Given the description of an element on the screen output the (x, y) to click on. 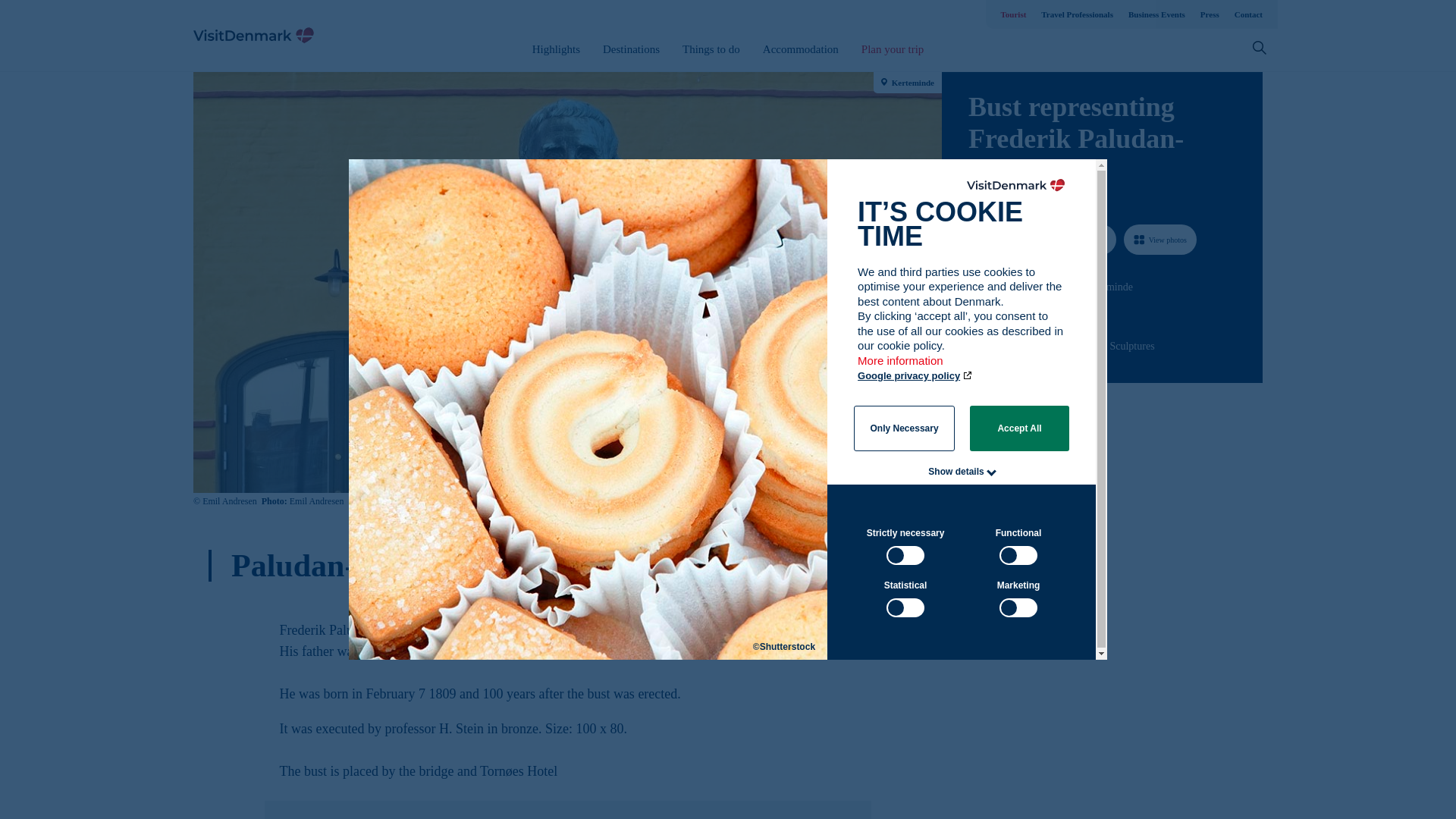
Show details (956, 471)
Only Necessary (904, 428)
More information (900, 367)
Accept All (1018, 428)
Google privacy policy (915, 375)
